Given the description of an element on the screen output the (x, y) to click on. 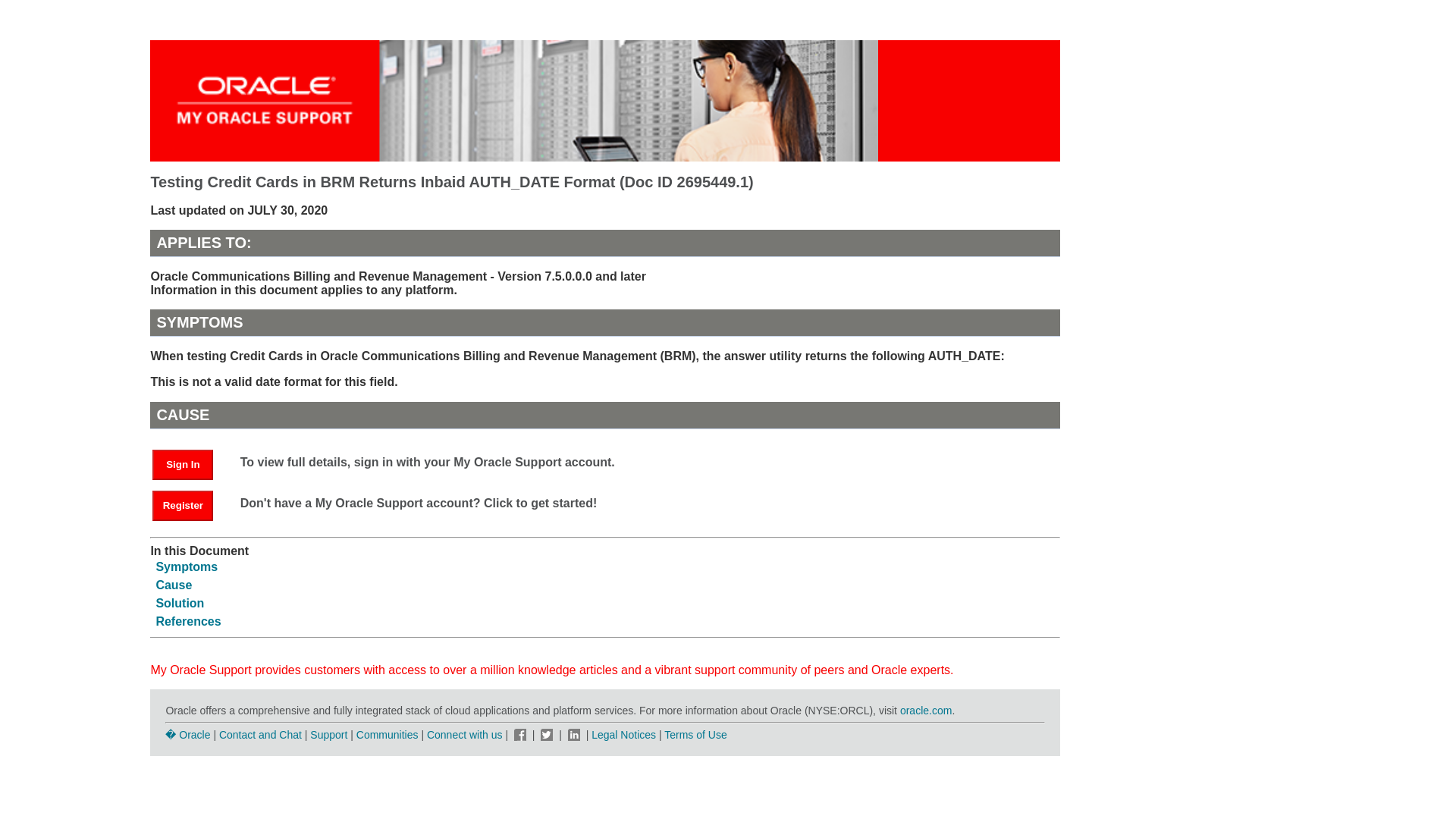
Register (190, 504)
Terms of Use (694, 734)
Cause (173, 584)
Legal Notices (623, 734)
Sign In (182, 464)
Solution (179, 603)
Communities (387, 734)
Register (182, 505)
Symptoms (185, 566)
Support (328, 734)
Sign In (190, 463)
oracle.com (925, 710)
Contact and Chat (260, 734)
References (188, 621)
oracle.com (925, 710)
